Given the description of an element on the screen output the (x, y) to click on. 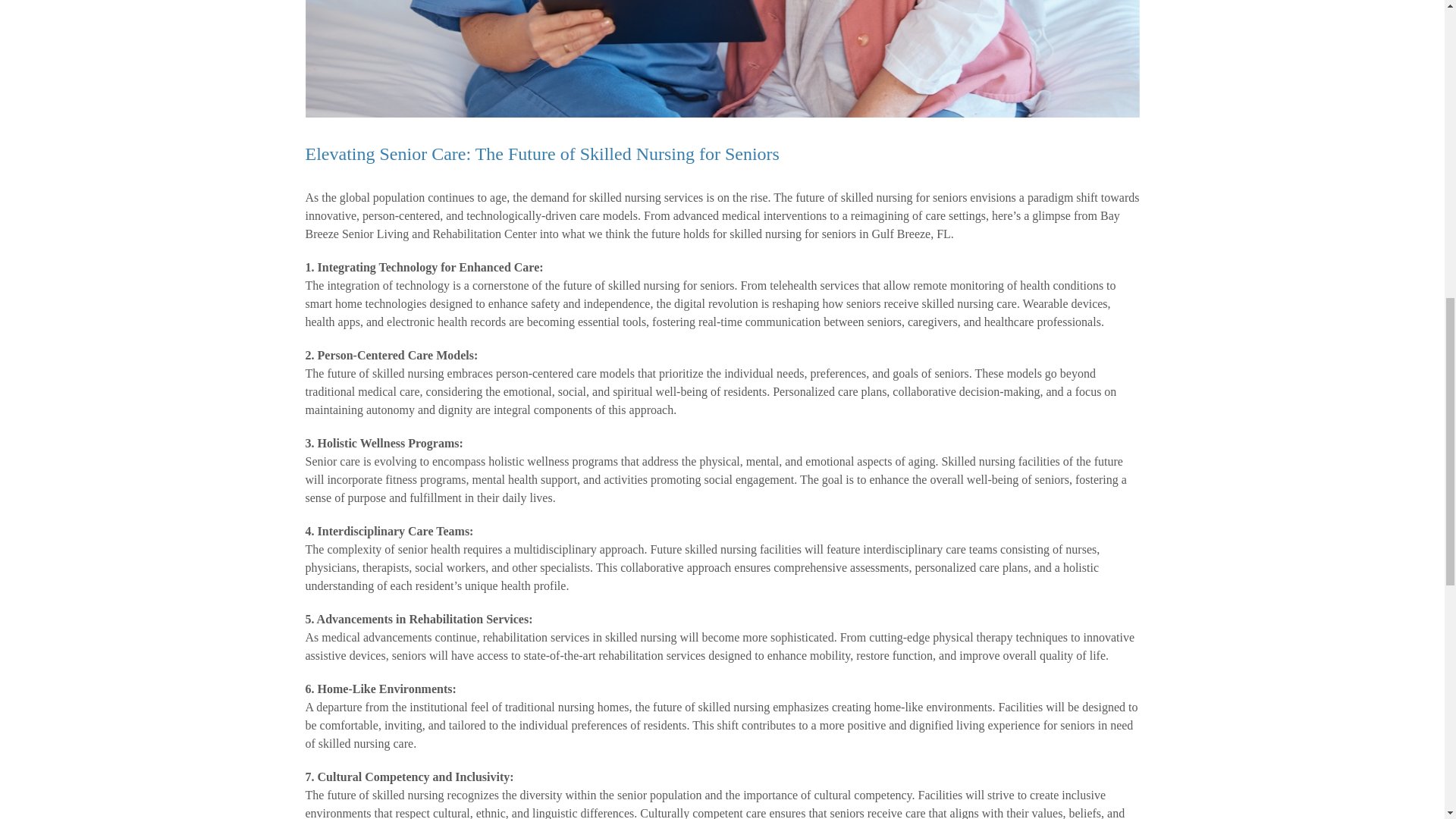
View Larger Image (721, 58)
